Given the description of an element on the screen output the (x, y) to click on. 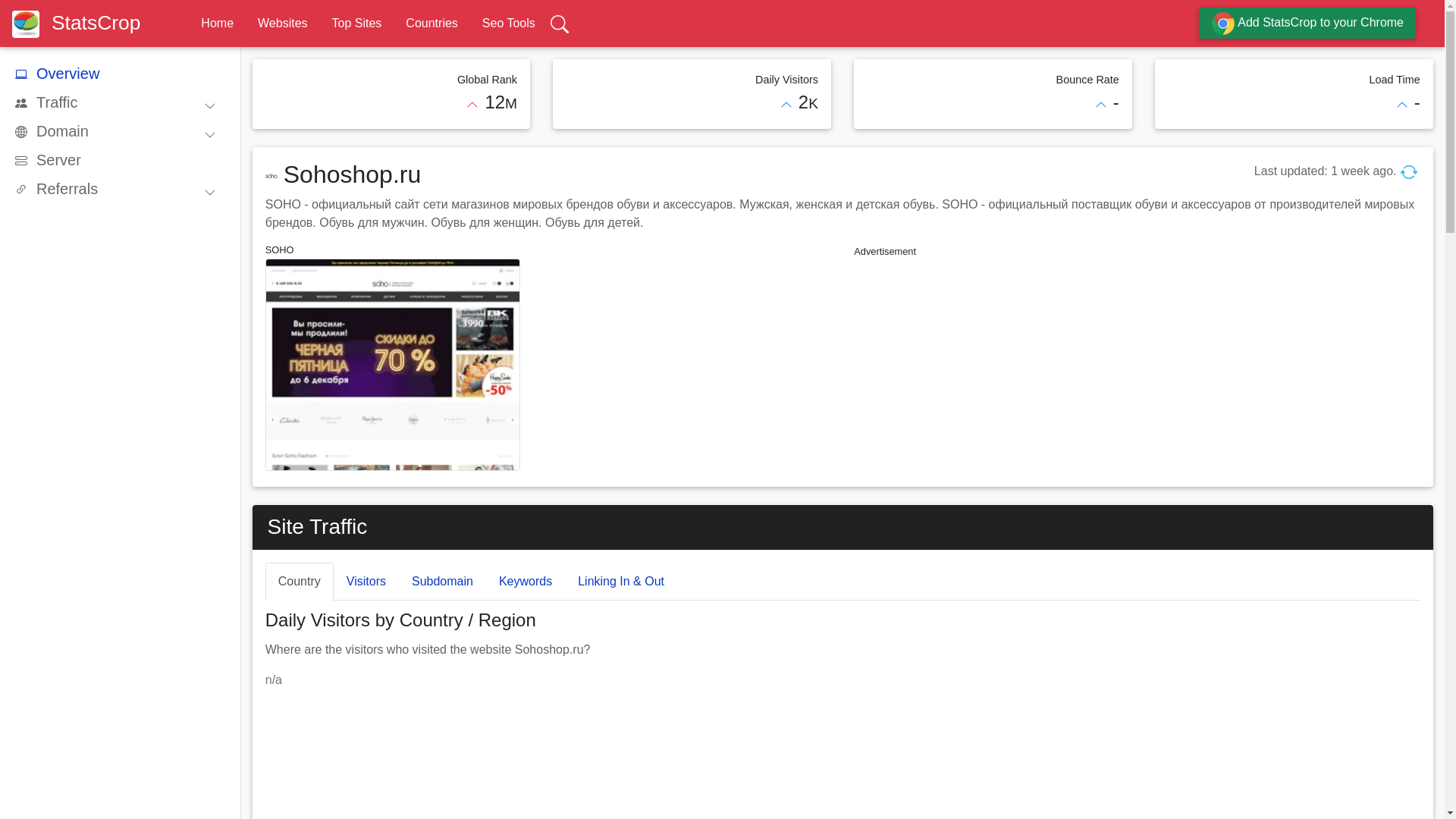
Traffic (121, 102)
Country (298, 581)
Seo Tools (508, 22)
Add StatsCrop to your Chrome (1306, 22)
Websites (282, 22)
Server (121, 159)
Websites (282, 22)
Keywords (525, 581)
StatsCrop (81, 22)
Home (216, 22)
